Given the description of an element on the screen output the (x, y) to click on. 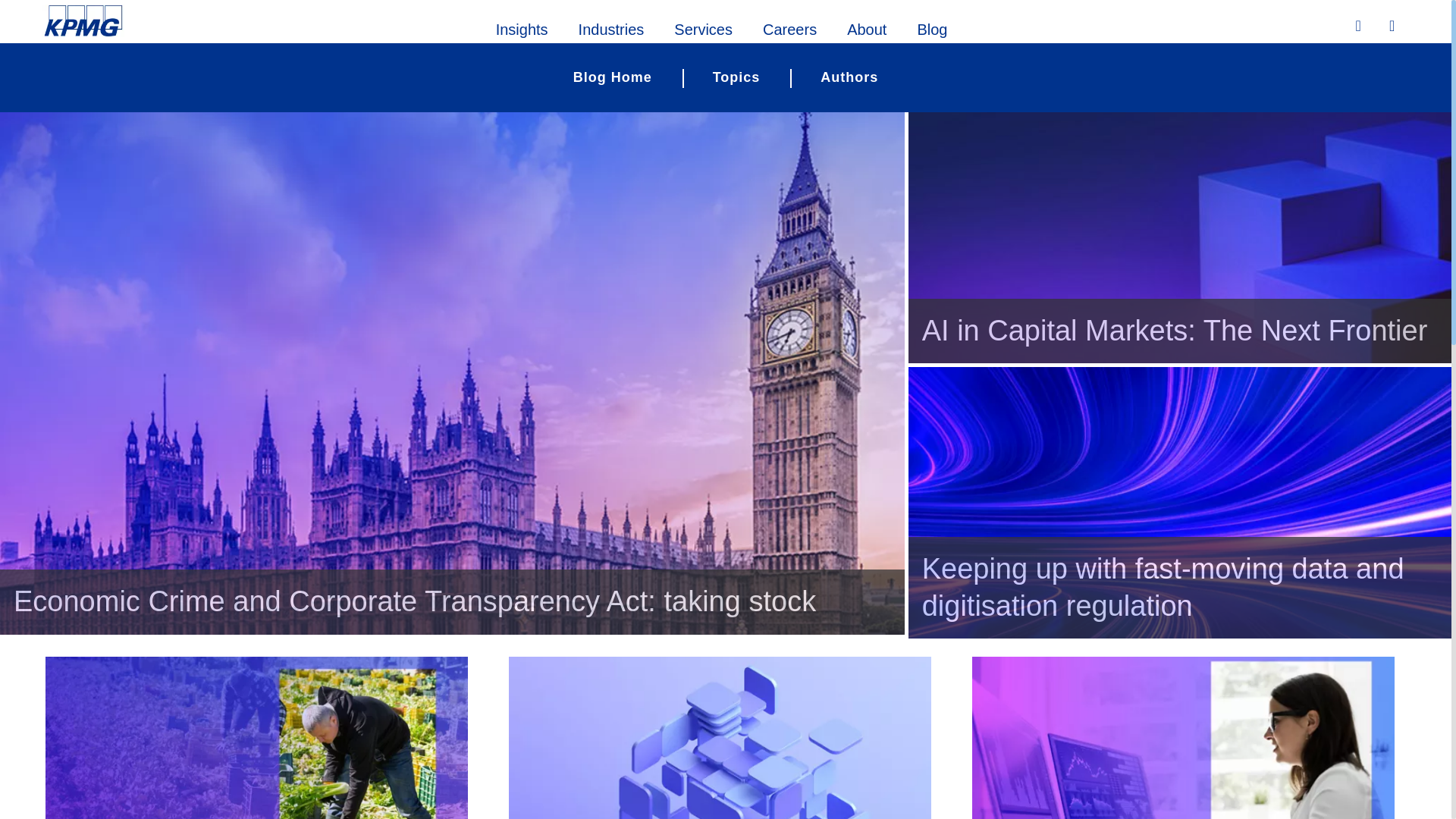
Site Selector (1393, 26)
Blog (931, 27)
Careers (789, 27)
Industries (611, 27)
Insights (521, 27)
Services (703, 27)
Topics (736, 77)
Blog Home (612, 77)
Search (1360, 26)
Authors (849, 77)
About (866, 27)
